Given the description of an element on the screen output the (x, y) to click on. 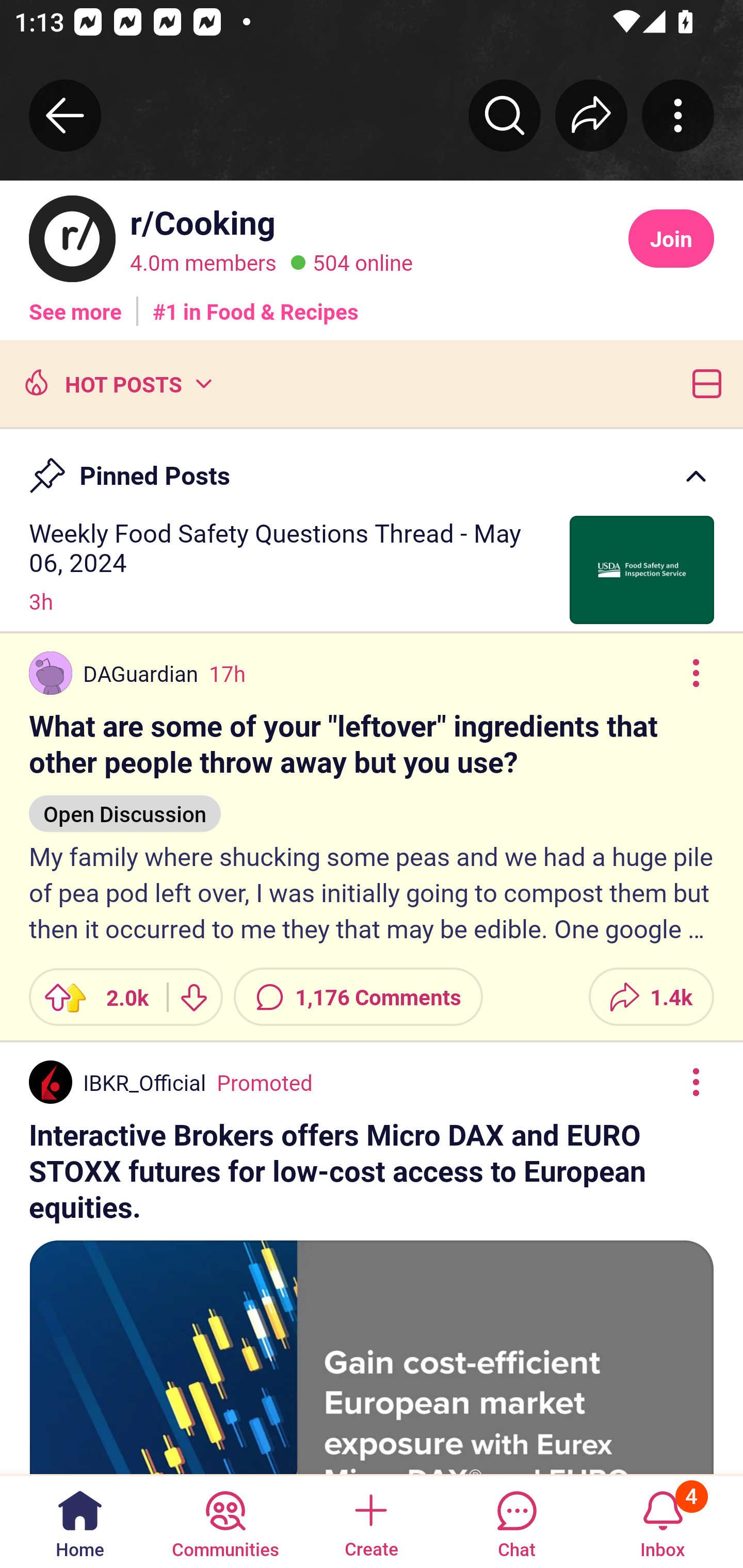
Back (64, 115)
Search r/﻿Cooking (504, 115)
Share r/﻿Cooking (591, 115)
More community actions (677, 115)
See more (74, 304)
#1 in Food & Recipes (255, 304)
Hot posts HOT POSTS (116, 382)
Card (703, 382)
Pin Pinned Posts Caret (371, 466)
Open Discussion (124, 803)
Home (80, 1520)
Communities (225, 1520)
Create a post Create (370, 1520)
Chat (516, 1520)
Inbox, has 4 notifications 4 Inbox (662, 1520)
